Given the description of an element on the screen output the (x, y) to click on. 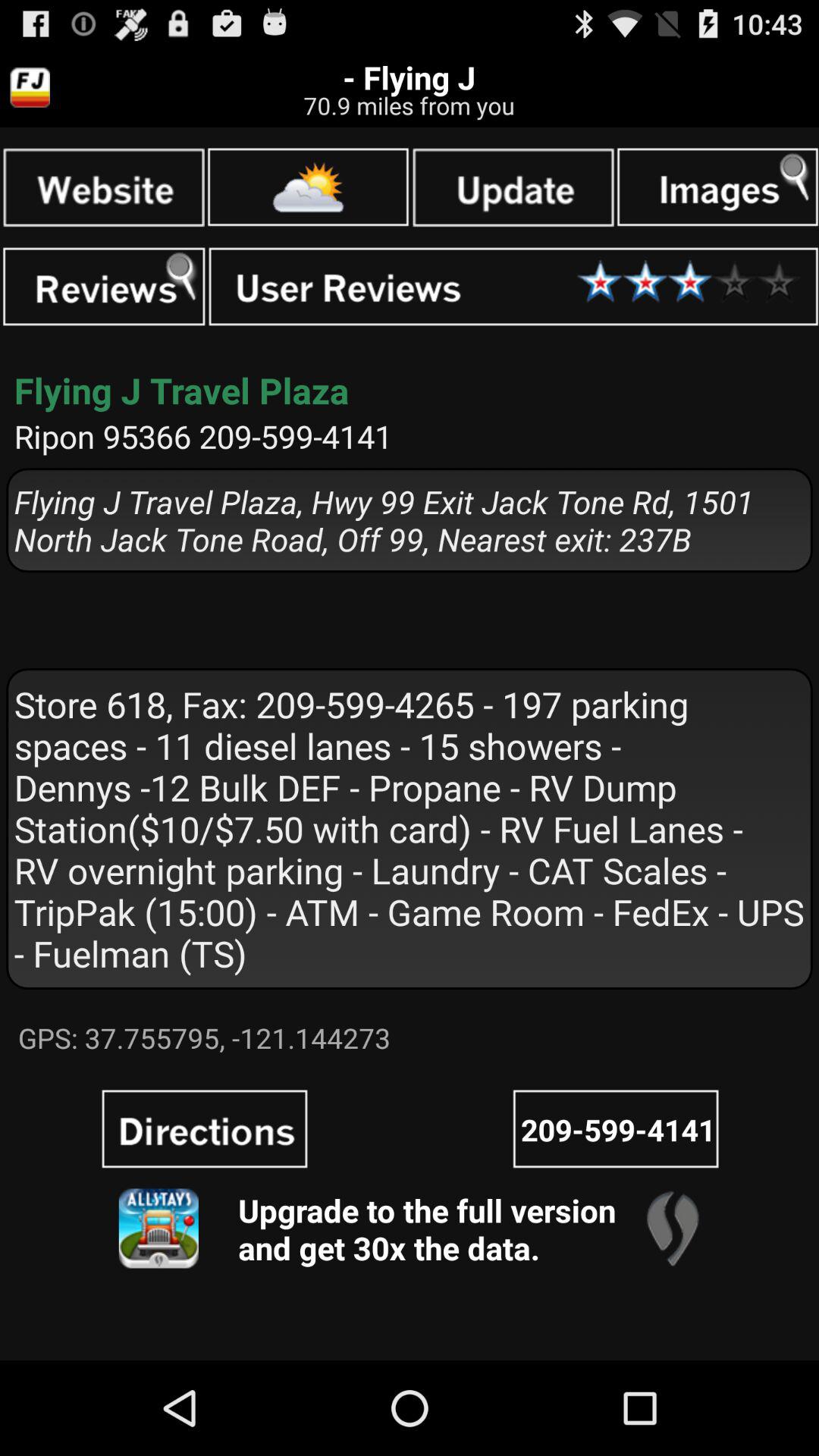
go to reviews (103, 286)
